Given the description of an element on the screen output the (x, y) to click on. 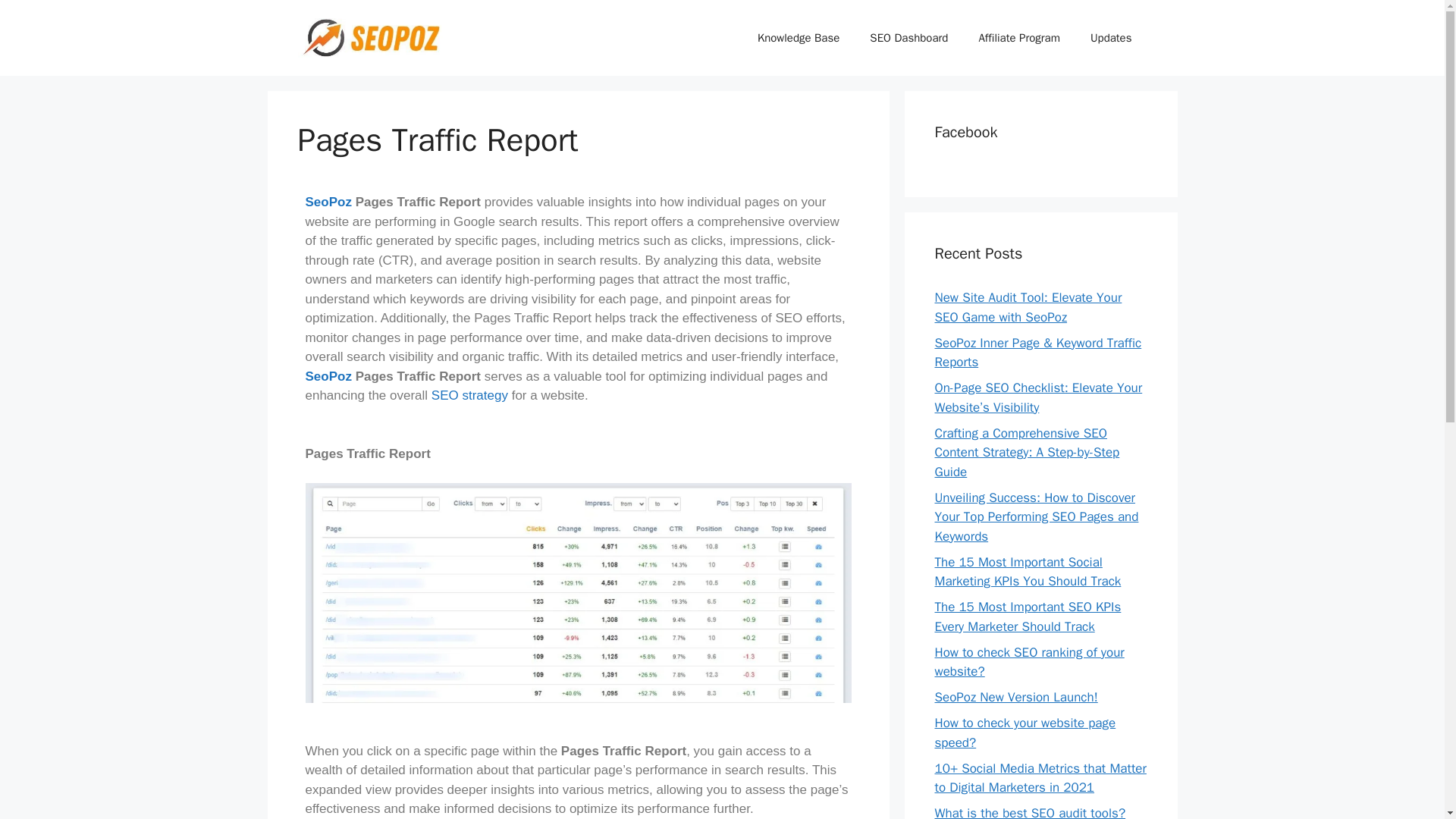
The 15 Most Important Social Marketing KPIs You Should Track (1027, 570)
What is the best SEO audit tools? (1029, 812)
How to check your website page speed? (1024, 732)
SEO Dashboard (908, 37)
Affiliate Program (1018, 37)
New Site Audit Tool: Elevate Your SEO Game with SeoPoz (1027, 307)
SeoPoz (327, 376)
The 15 Most Important SEO KPIs Every Marketer Should Track (1027, 616)
How to check SEO ranking of your website? (1029, 662)
SeoPoz New Version Launch! (1015, 697)
Updates (1111, 37)
SEO strategy (469, 395)
Knowledge Base (798, 37)
SeoPoz (327, 201)
